Given the description of an element on the screen output the (x, y) to click on. 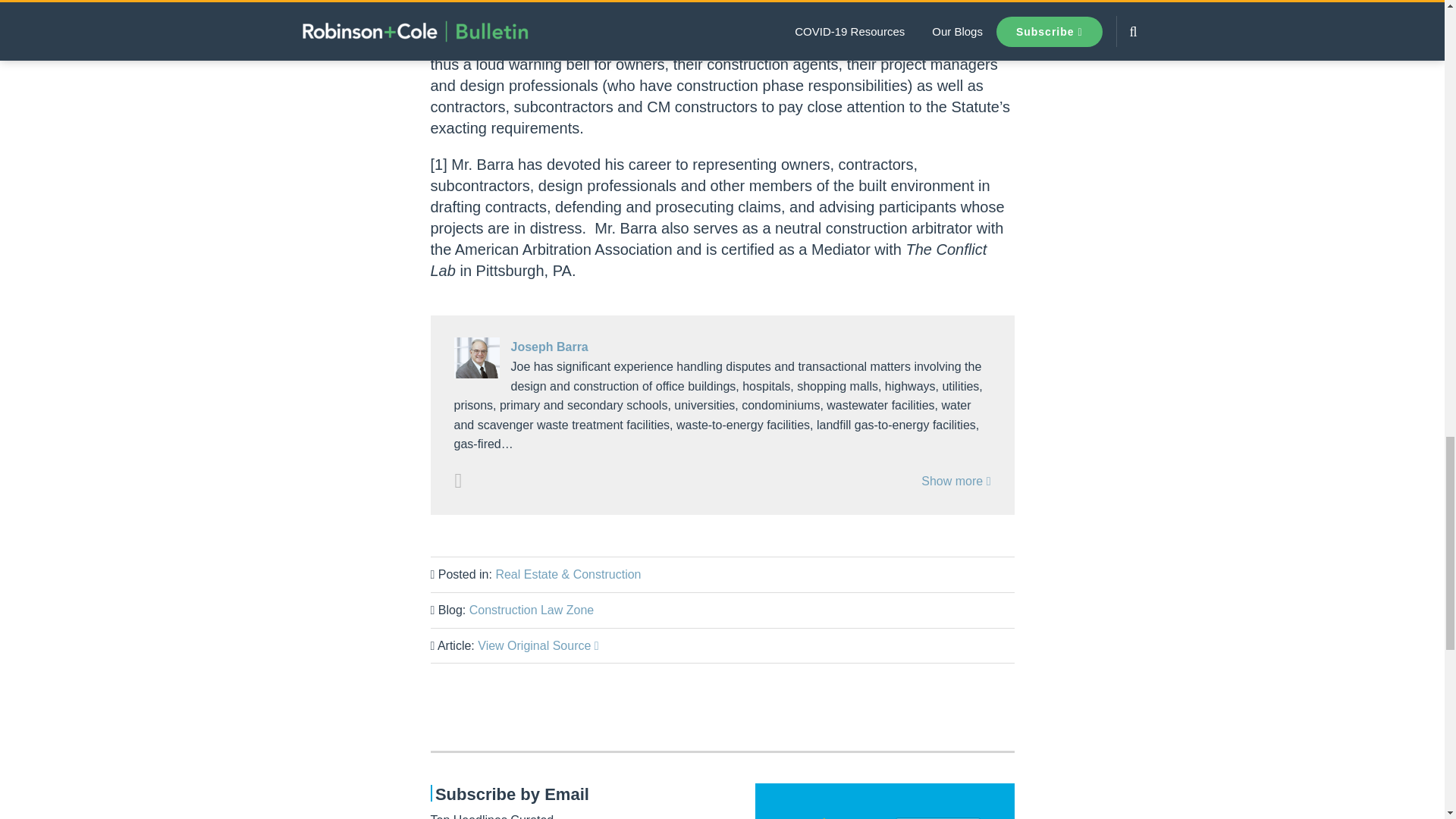
View Original Source (537, 645)
Show more (955, 481)
Construction Law Zone (531, 609)
Joseph Barra (721, 347)
